Given the description of an element on the screen output the (x, y) to click on. 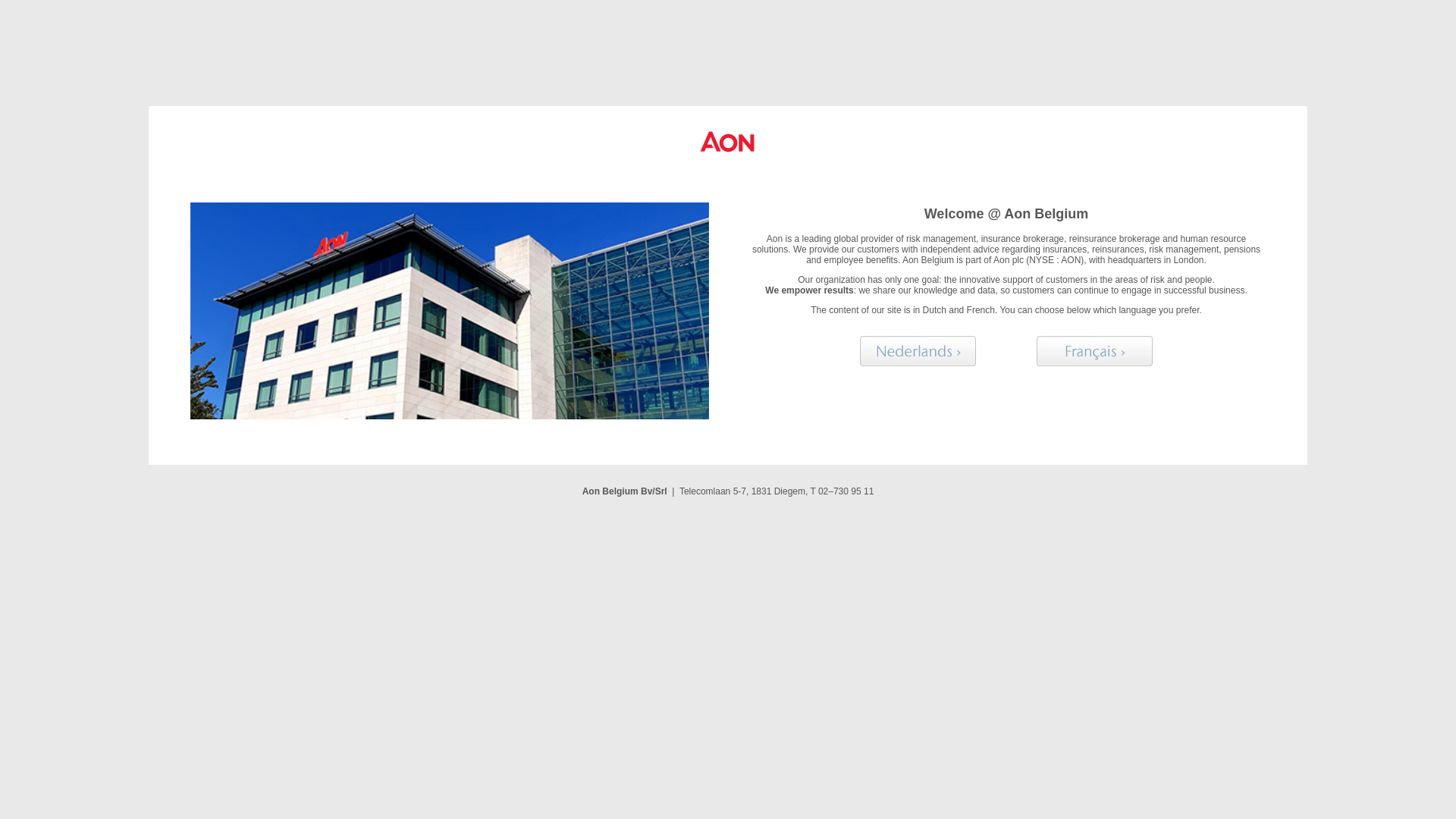
Nederlands Element type: hover (917, 350)
